Given the description of an element on the screen output the (x, y) to click on. 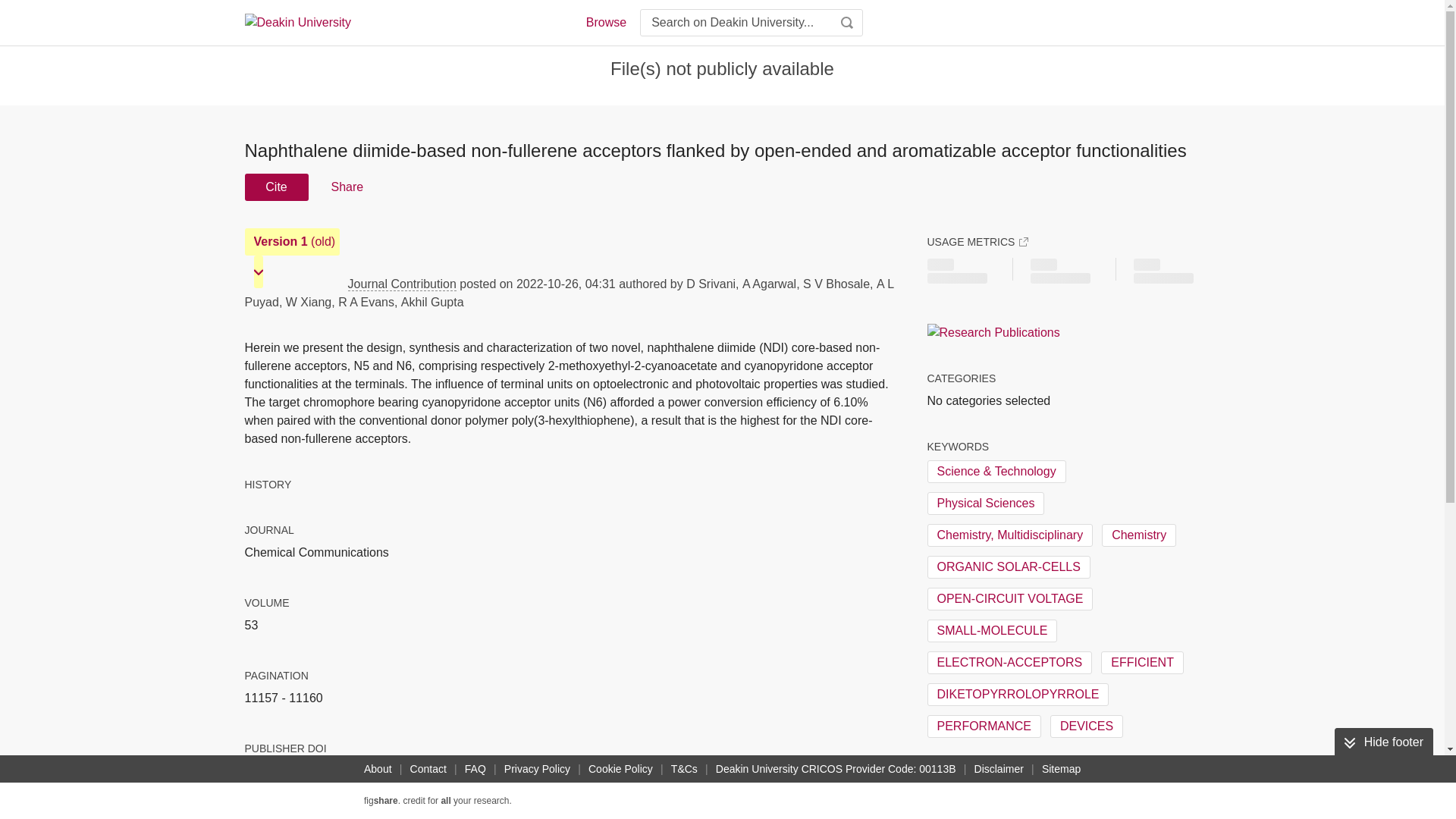
Browse (605, 22)
Contact (428, 769)
ELECTRON-ACCEPTORS (1009, 662)
USAGE METRICS (976, 241)
Hide footer (1383, 742)
ORGANIC SOLAR-CELLS (1007, 567)
EFFICIENT (1141, 662)
SMALL-MOLECULE (991, 630)
About (377, 769)
Physical Sciences (984, 503)
DEVICES (1085, 725)
PERFORMANCE (983, 725)
Privacy Policy (537, 769)
Cookie Policy (620, 769)
All Rights Reserved (979, 796)
